Given the description of an element on the screen output the (x, y) to click on. 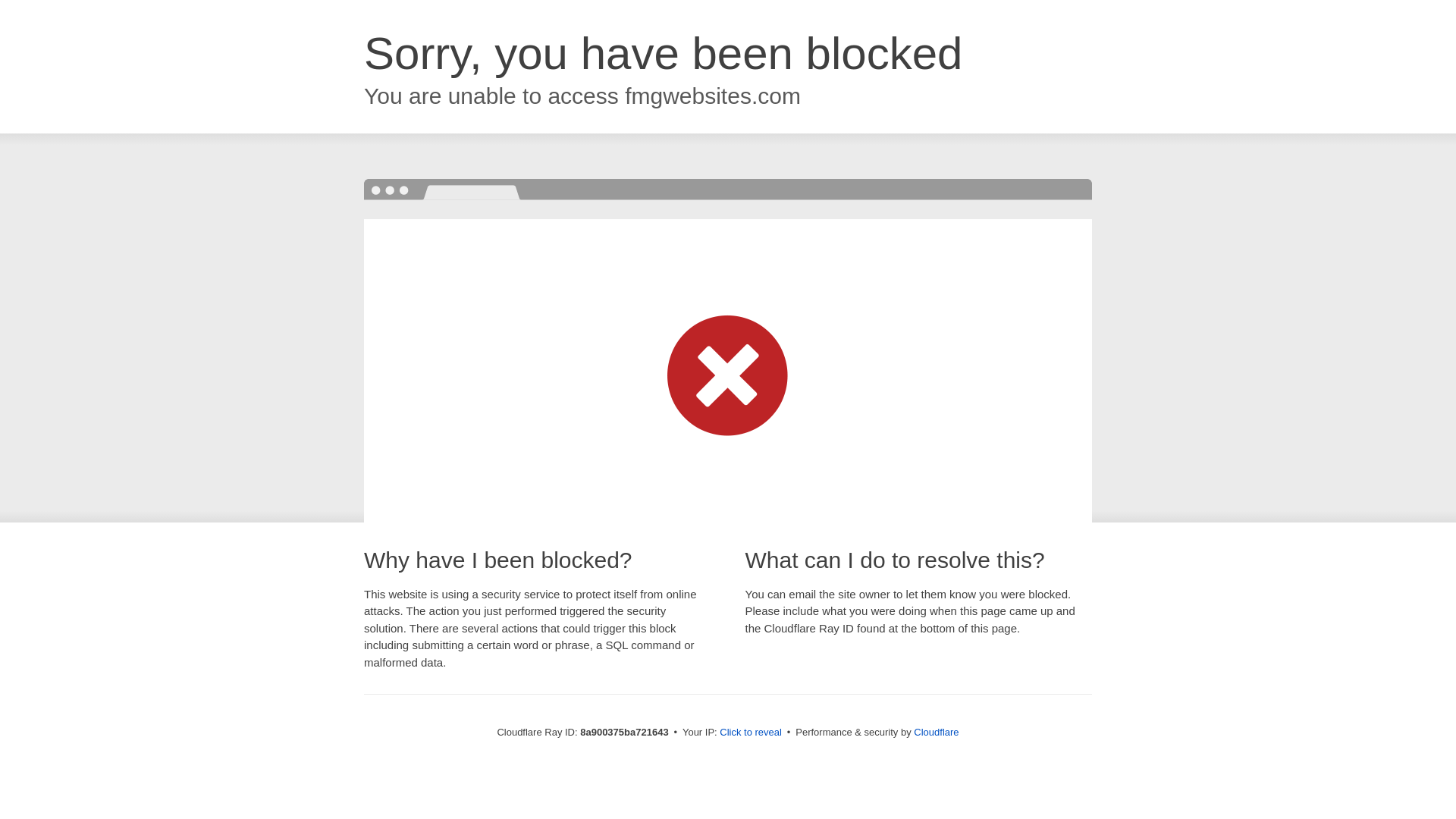
Cloudflare (936, 731)
Click to reveal (750, 732)
